Given the description of an element on the screen output the (x, y) to click on. 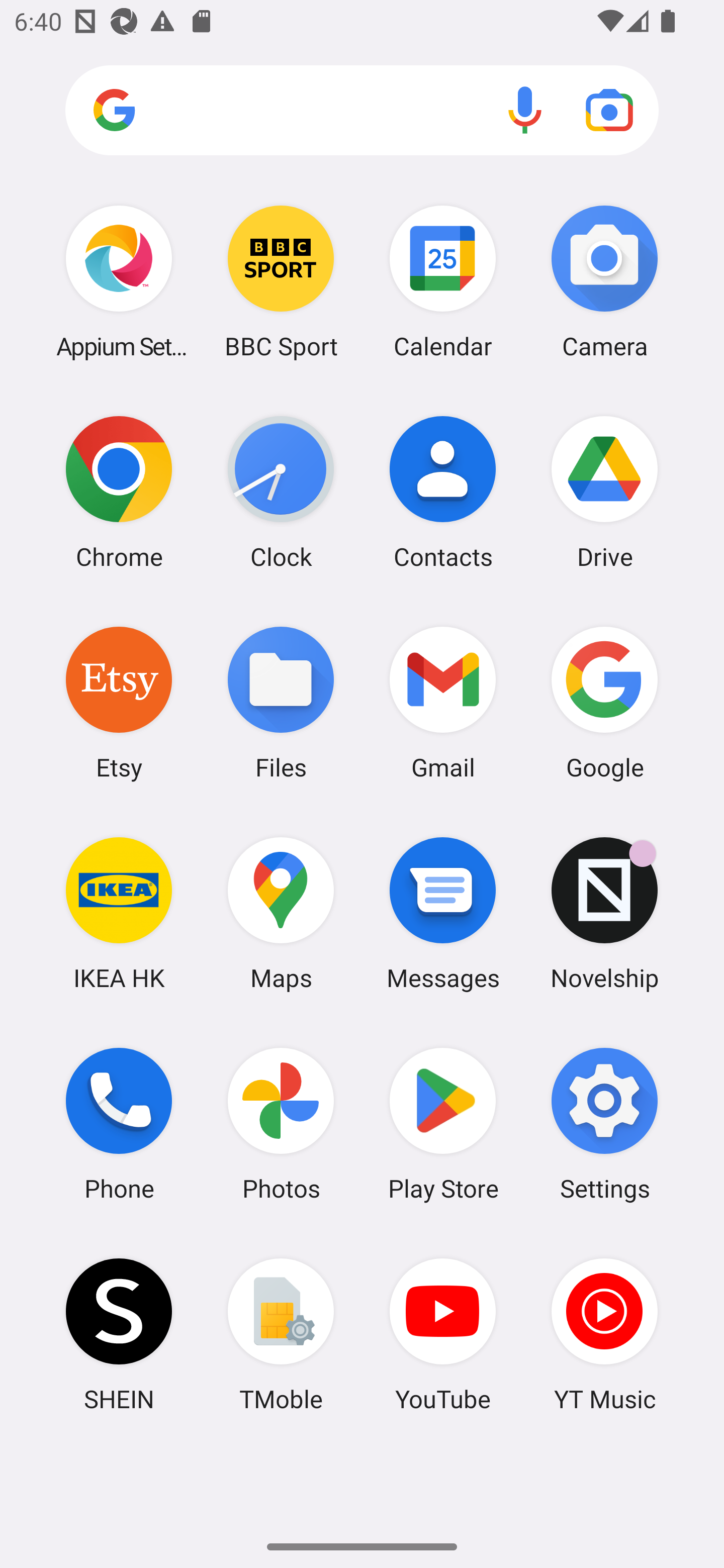
Search apps, web and more (361, 110)
Voice search (524, 109)
Google Lens (608, 109)
Appium Settings (118, 281)
BBC Sport (280, 281)
Calendar (443, 281)
Camera (604, 281)
Chrome (118, 492)
Clock (280, 492)
Contacts (443, 492)
Drive (604, 492)
Etsy (118, 702)
Files (280, 702)
Gmail (443, 702)
Google (604, 702)
IKEA HK (118, 913)
Maps (280, 913)
Messages (443, 913)
Novelship Novelship has 1 notification (604, 913)
Phone (118, 1124)
Photos (280, 1124)
Play Store (443, 1124)
Settings (604, 1124)
SHEIN (118, 1334)
TMoble (280, 1334)
YouTube (443, 1334)
YT Music (604, 1334)
